Given the description of an element on the screen output the (x, y) to click on. 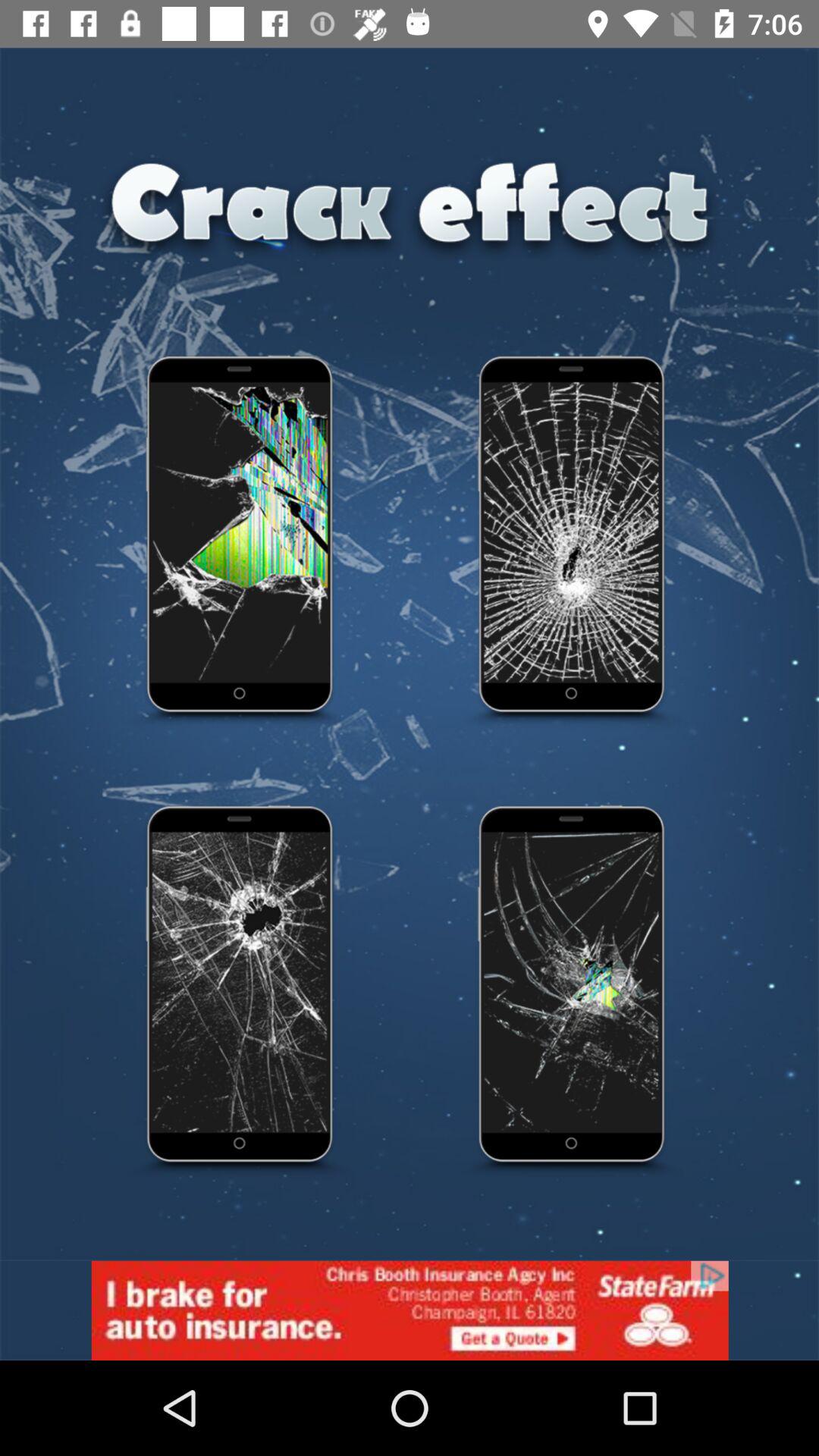
select it (572, 992)
